Given the description of an element on the screen output the (x, y) to click on. 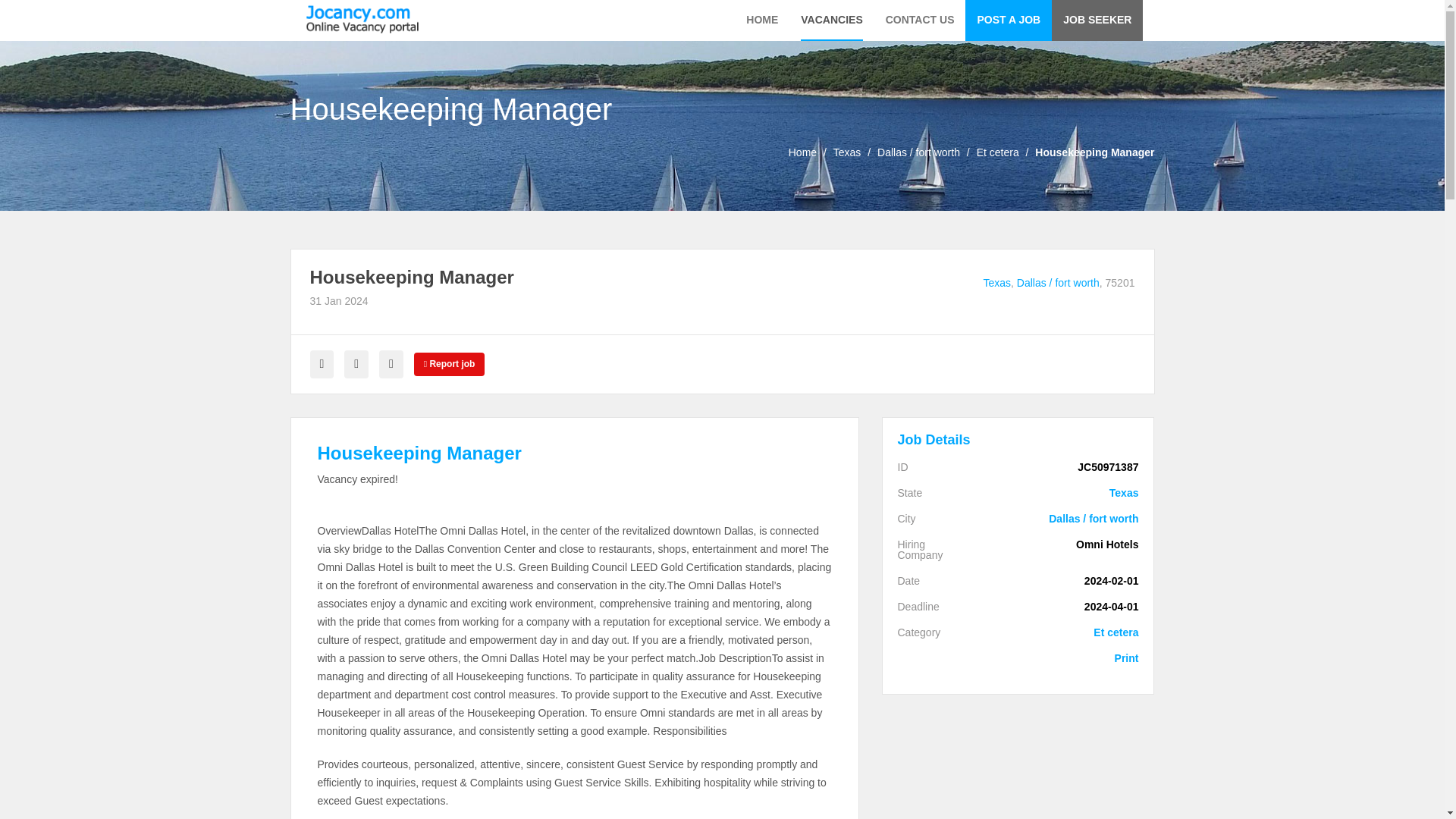
POST A JOB (1008, 20)
CONTACT US (920, 20)
Texas (846, 152)
Job Seeker (1096, 20)
Post a Job (1008, 20)
Texas State jobs (846, 152)
Vacancies (830, 20)
et cetera (997, 152)
Jocancy - jocancy.com (362, 19)
Contact us (920, 20)
